Given the description of an element on the screen output the (x, y) to click on. 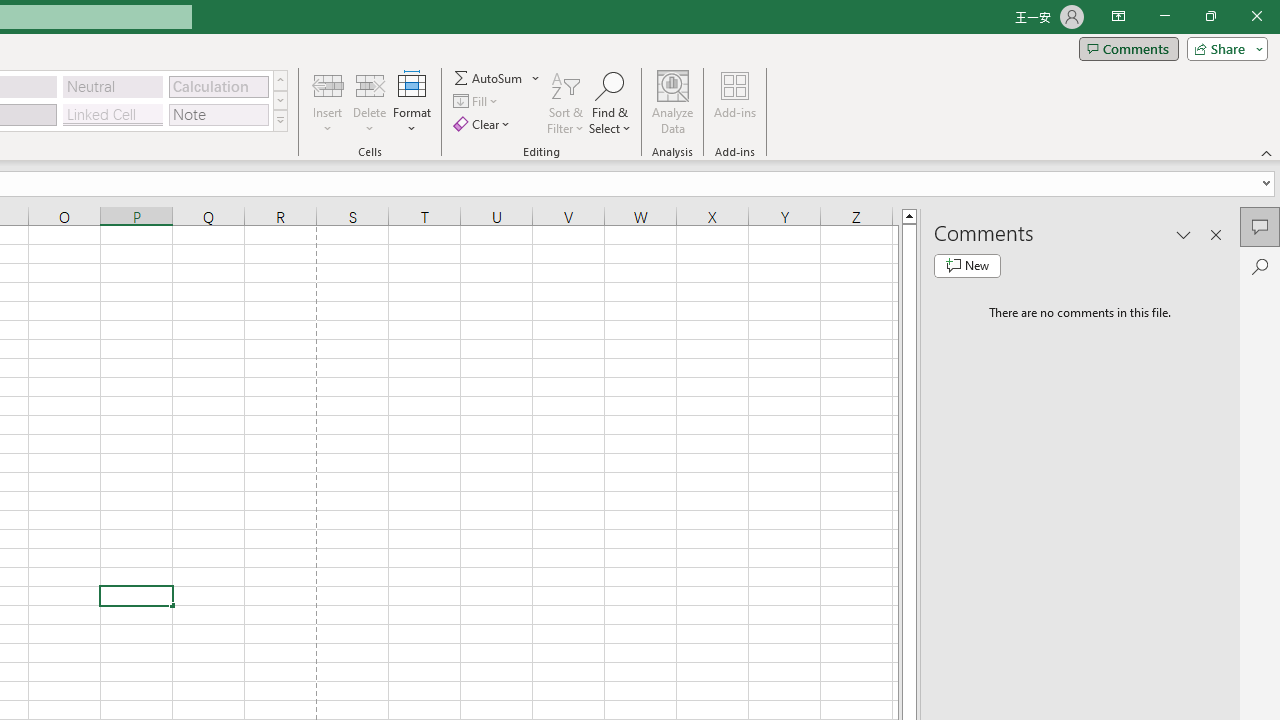
Delete Cells... (369, 84)
Linked Cell (113, 114)
